Given the description of an element on the screen output the (x, y) to click on. 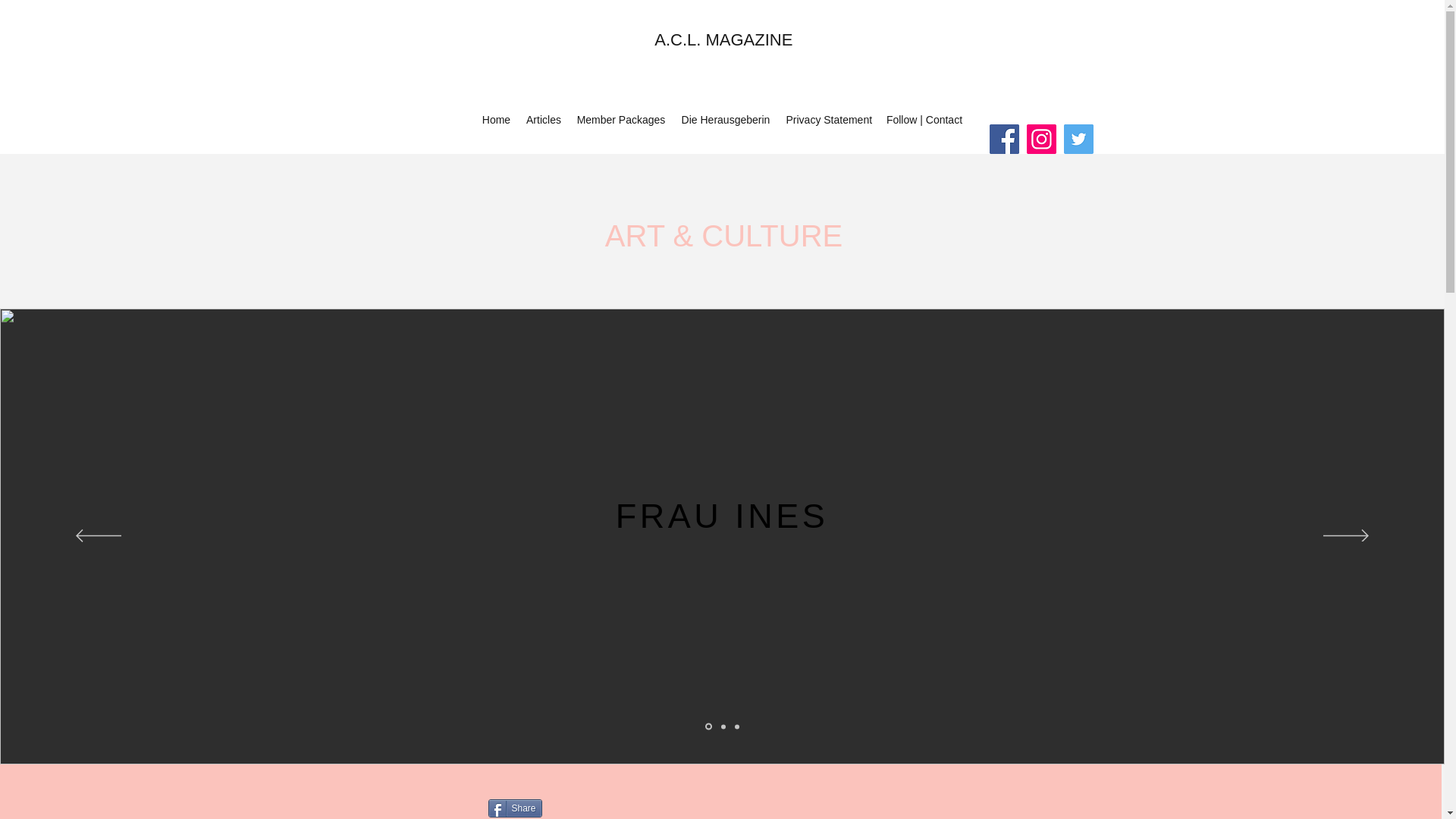
Member Packages (620, 119)
Home (496, 119)
Share (514, 808)
Privacy Statement (827, 119)
Articles (543, 119)
A.C.L. MAGAZINE (722, 39)
Die Herausgeberin (724, 119)
Share (514, 808)
